Given the description of an element on the screen output the (x, y) to click on. 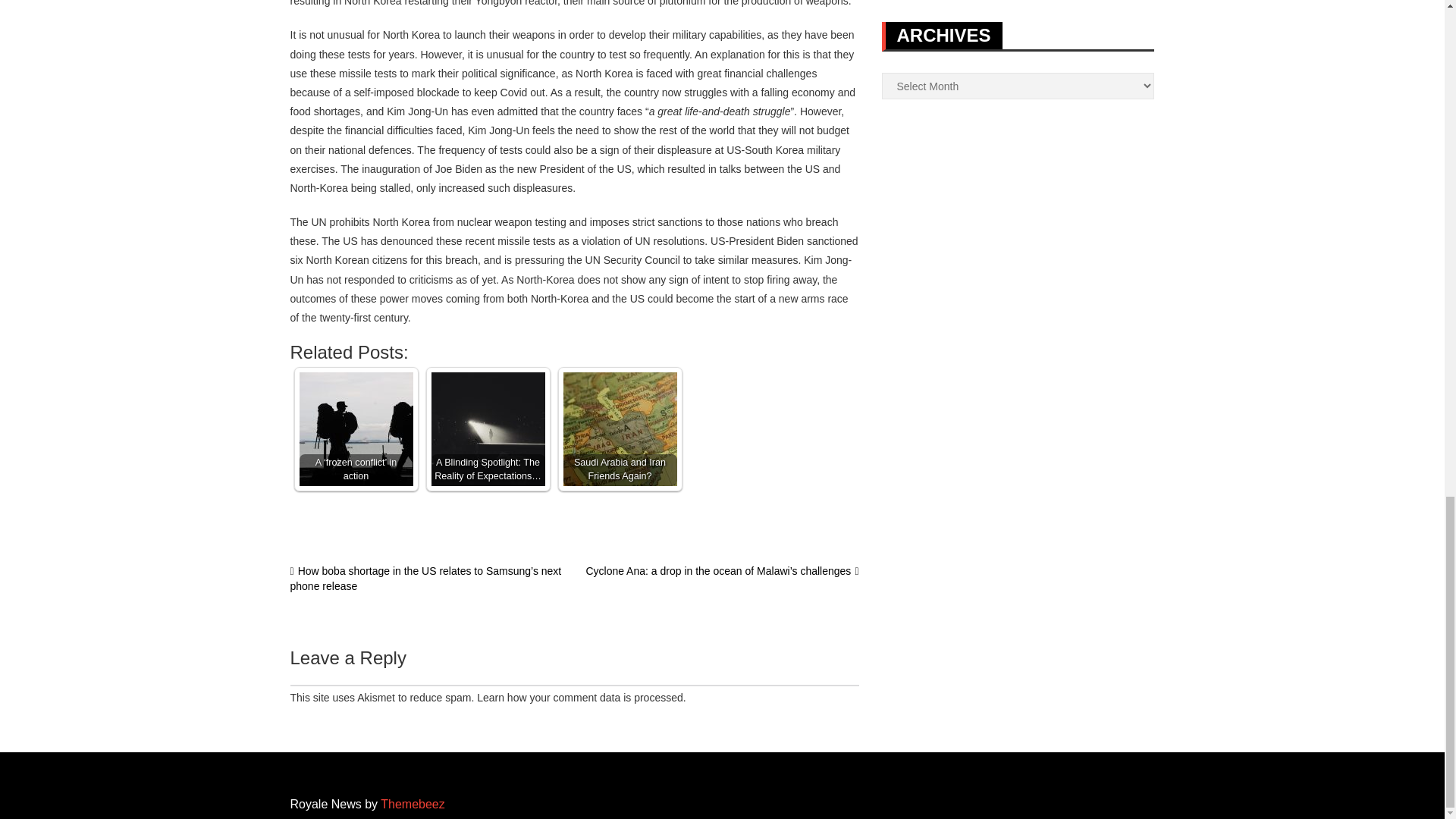
Saudi Arabia and Iran Friends Again? (619, 429)
